Given the description of an element on the screen output the (x, y) to click on. 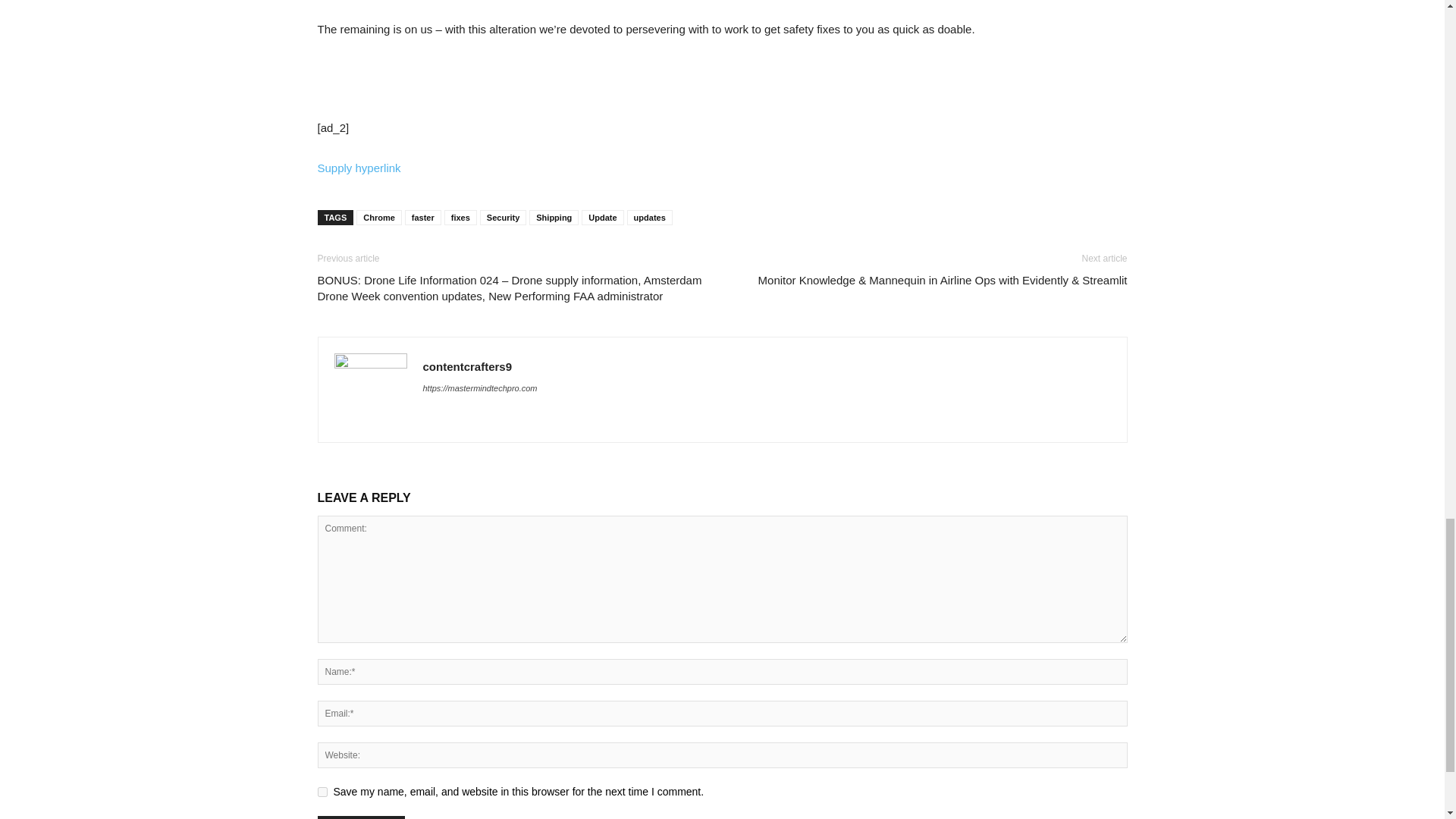
Security (502, 217)
fixes (460, 217)
Chrome (378, 217)
faster (422, 217)
contentcrafters9 (467, 366)
Update (601, 217)
yes (321, 791)
Shipping (553, 217)
updates (649, 217)
Post Comment (360, 817)
